Given the description of an element on the screen output the (x, y) to click on. 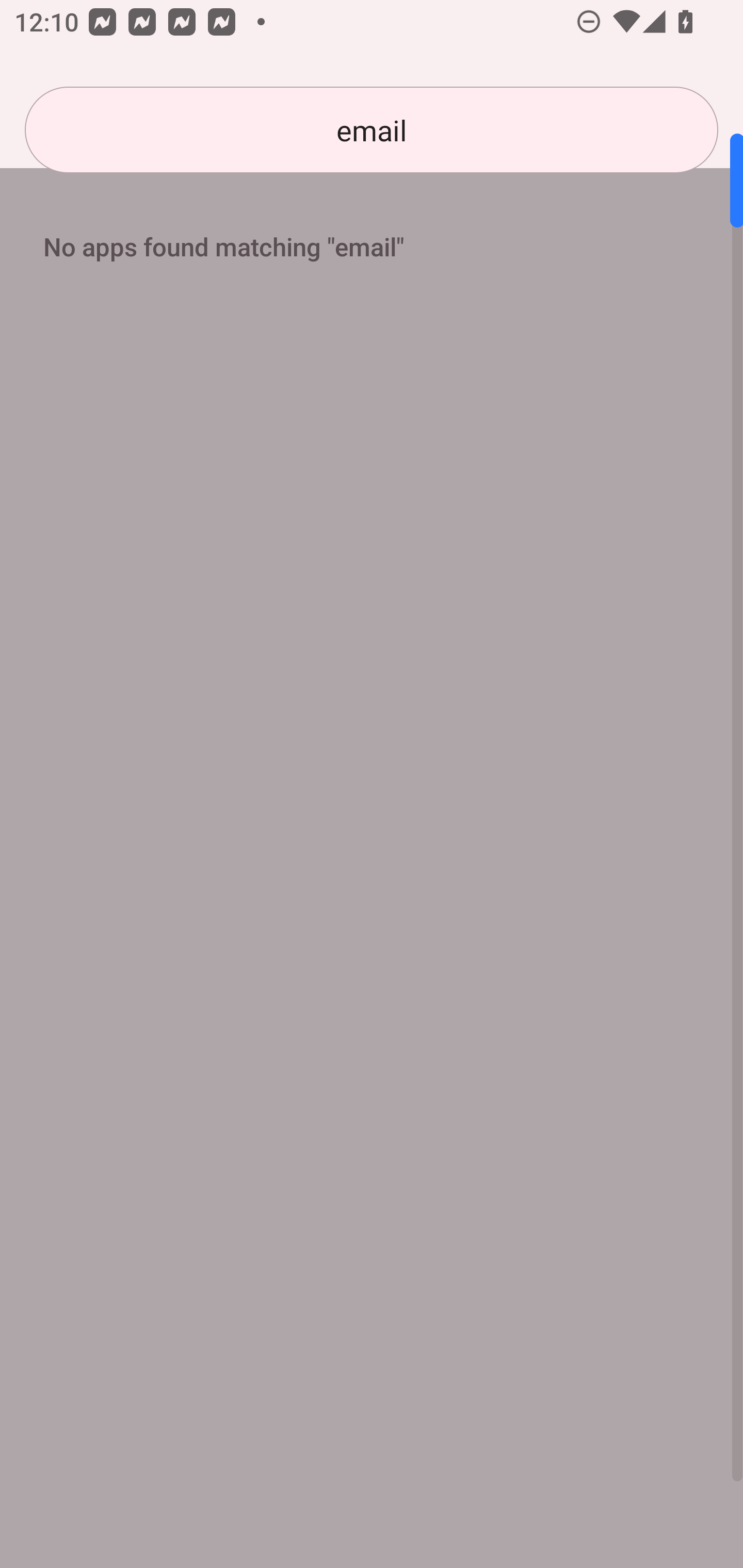
email (371, 130)
